Given the description of an element on the screen output the (x, y) to click on. 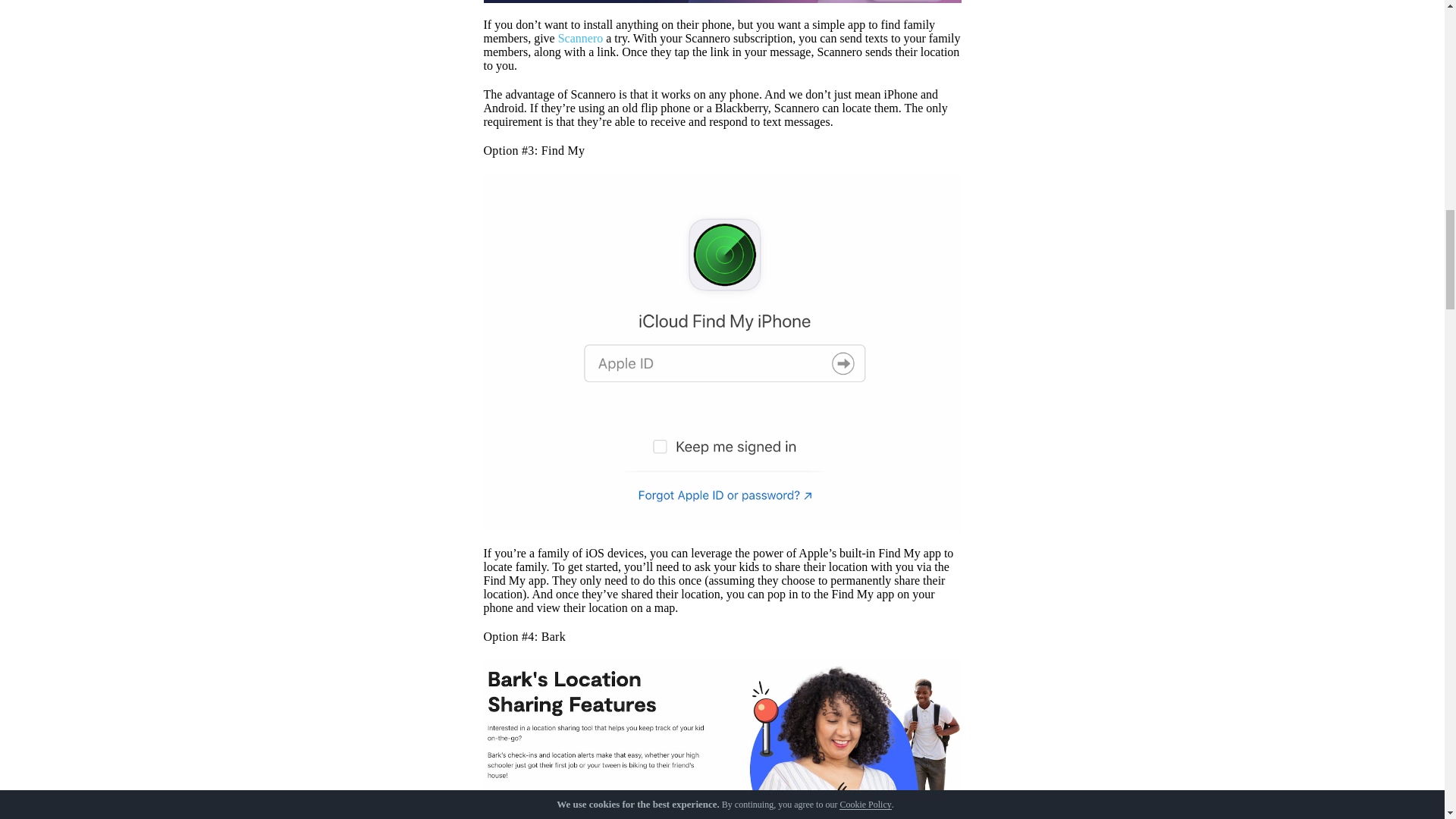
Scannero (580, 38)
